Given the description of an element on the screen output the (x, y) to click on. 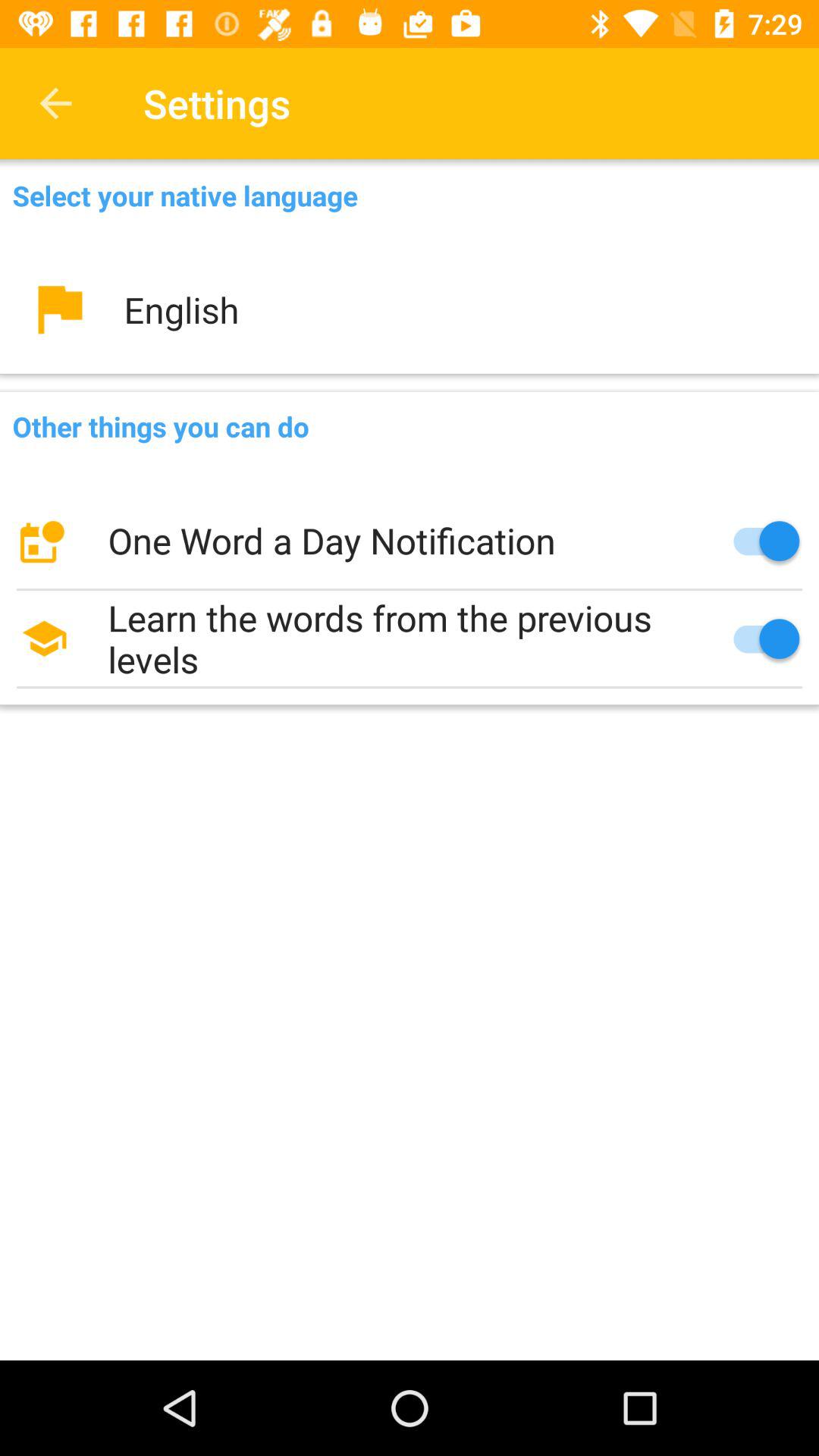
choose item below the other things you icon (409, 540)
